Given the description of an element on the screen output the (x, y) to click on. 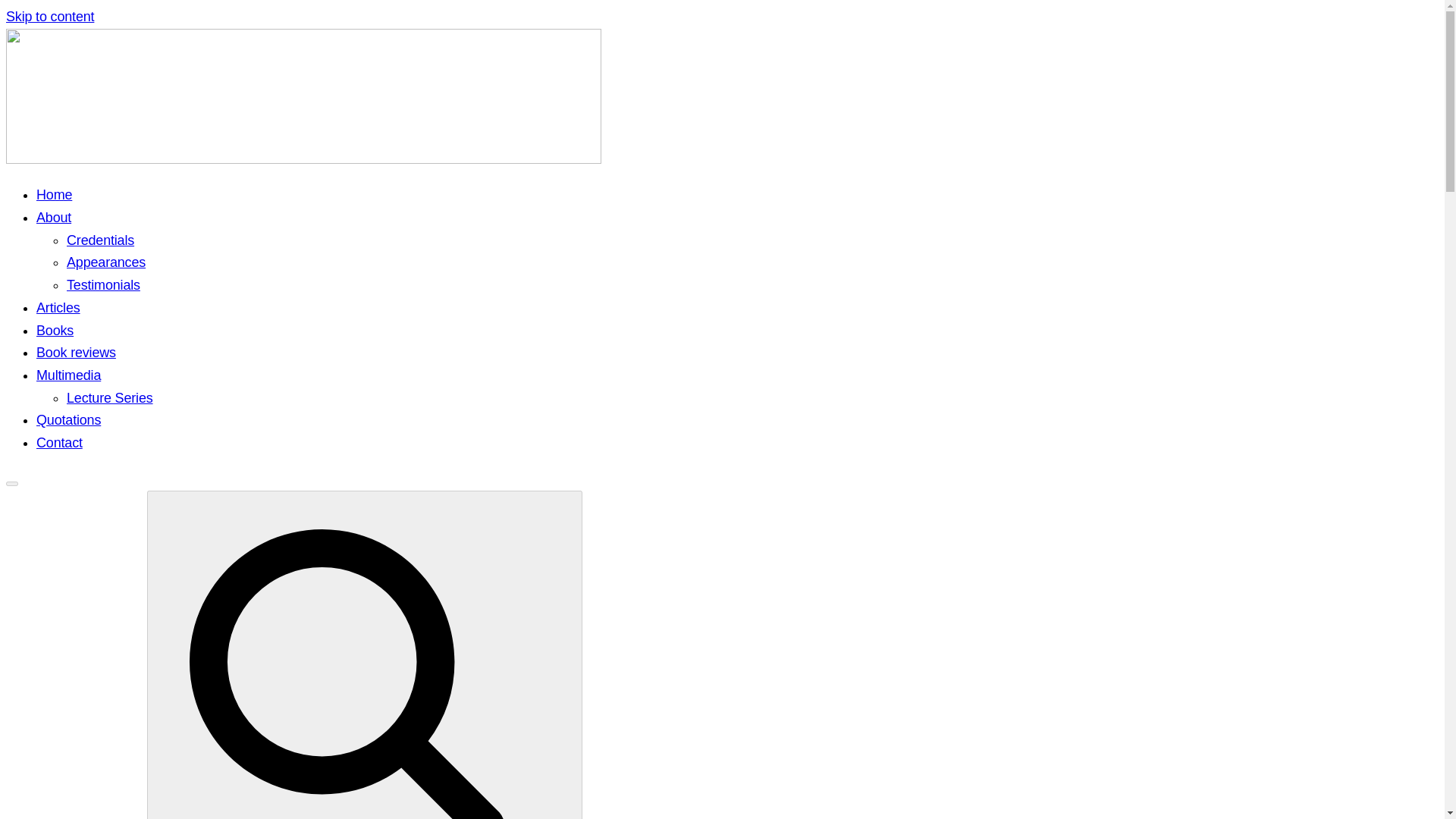
Quotations (68, 419)
Books (55, 330)
Home (53, 194)
Credentials (99, 240)
Multimedia (68, 375)
Lecture Series (109, 397)
Skip to content (49, 16)
Articles (58, 307)
Appearances (105, 262)
